Given the description of an element on the screen output the (x, y) to click on. 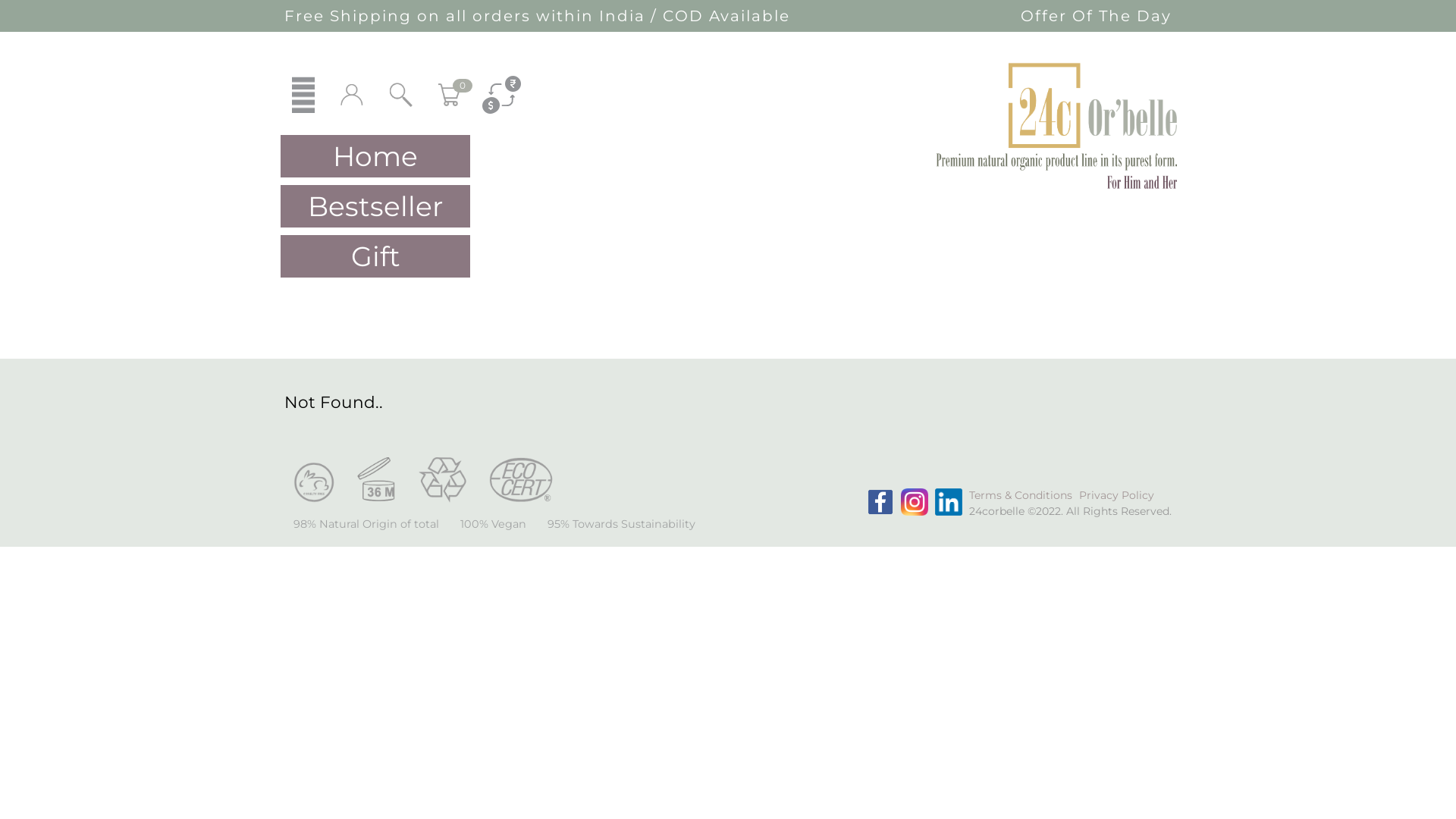
0 Element type: text (449, 94)
Offer Of The Day Element type: text (1095, 15)
Terms & Conditions Element type: text (1020, 495)
Bestseller Element type: text (374, 205)
Home Element type: text (374, 155)
Gift Element type: text (374, 256)
Privacy Policy Element type: text (1116, 495)
